Given the description of an element on the screen output the (x, y) to click on. 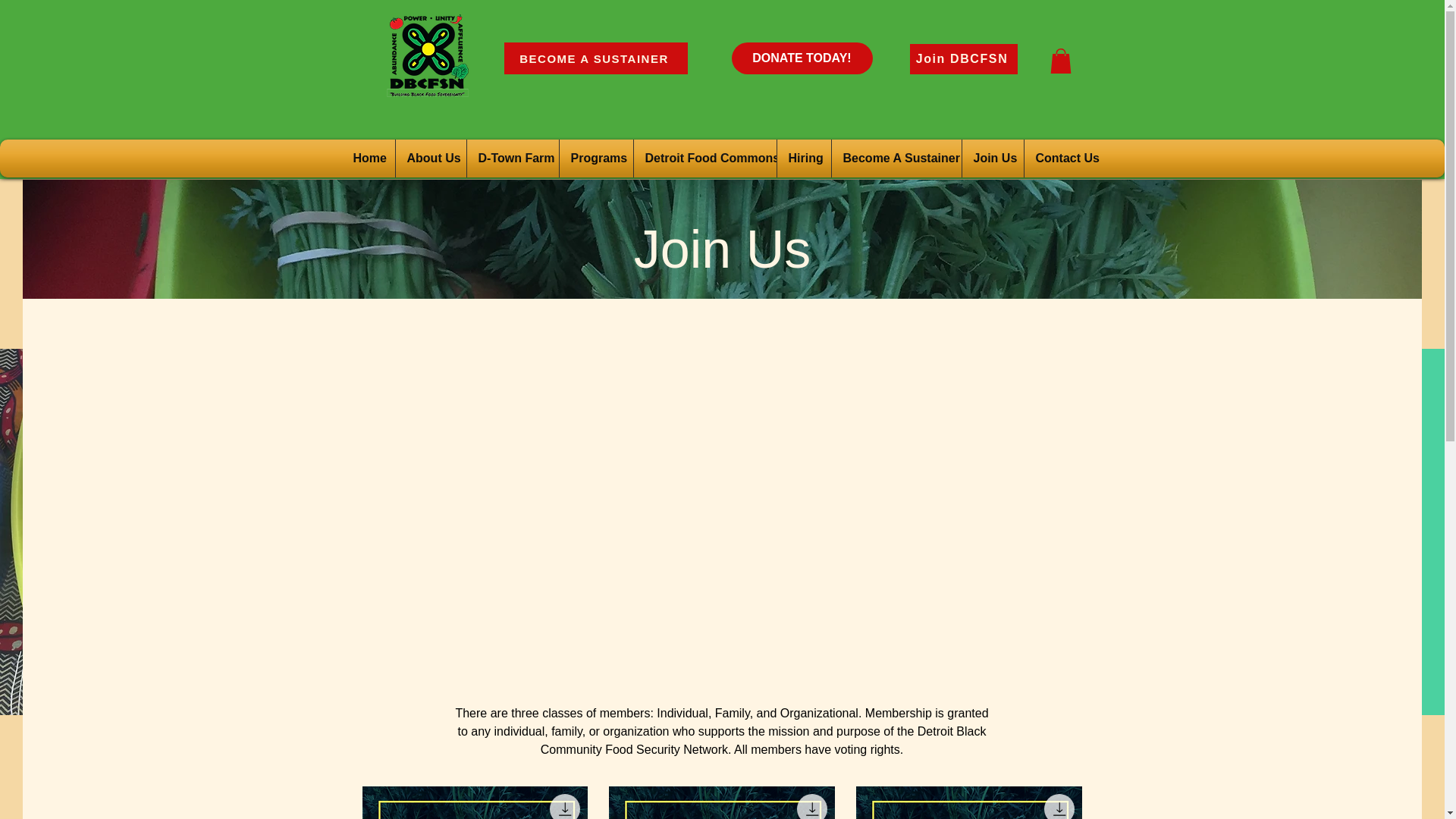
About Us (387, 158)
Join DBCFSN (963, 59)
Contact Us (1021, 158)
Become A Sustainer (853, 158)
Join Us (949, 158)
Book Online (1102, 158)
Detroit Food Commons (661, 158)
DONATE TODAY! (801, 58)
Hiring (761, 158)
Home (324, 158)
